Given the description of an element on the screen output the (x, y) to click on. 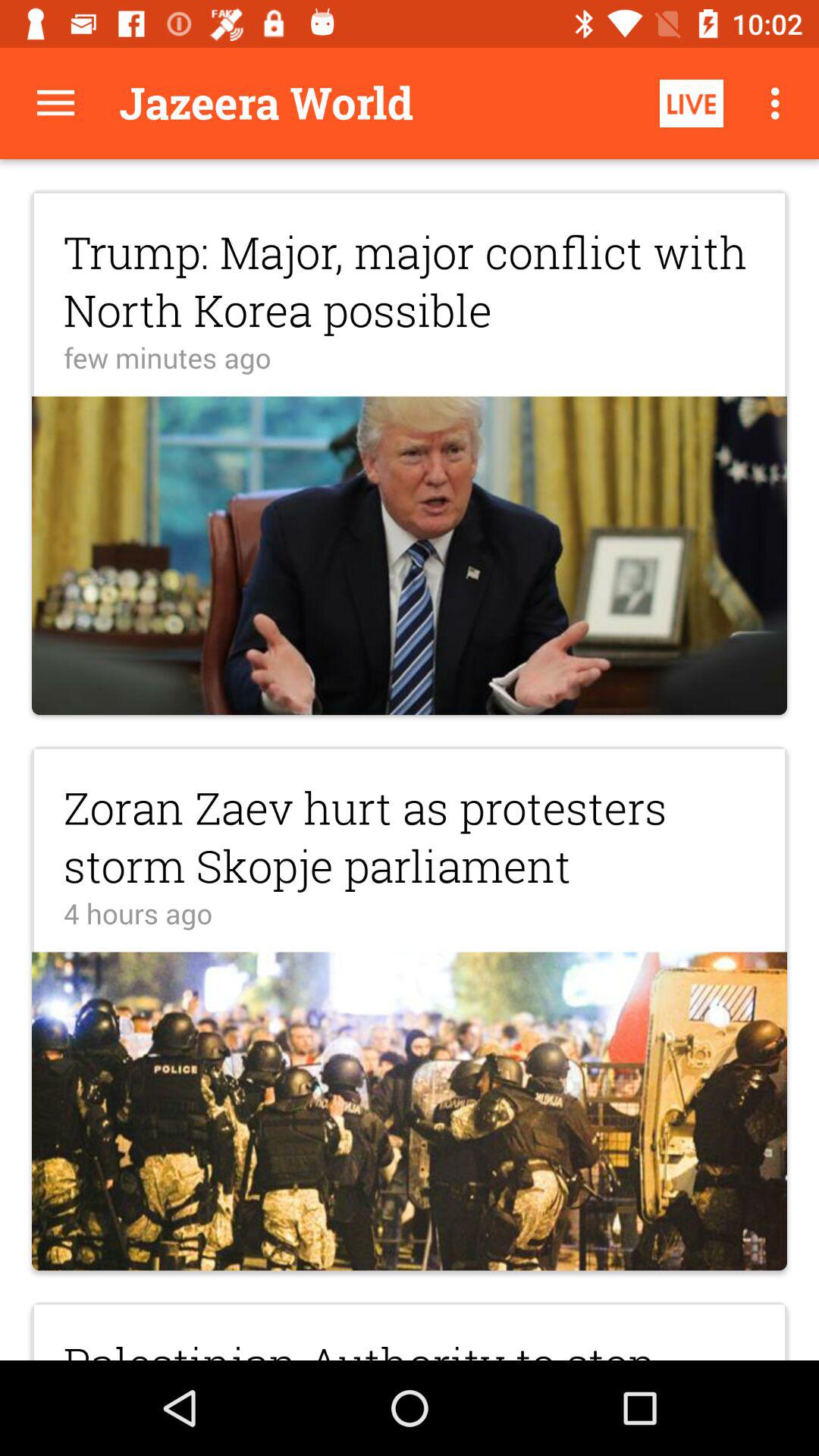
tap item above trump major major item (691, 103)
